Given the description of an element on the screen output the (x, y) to click on. 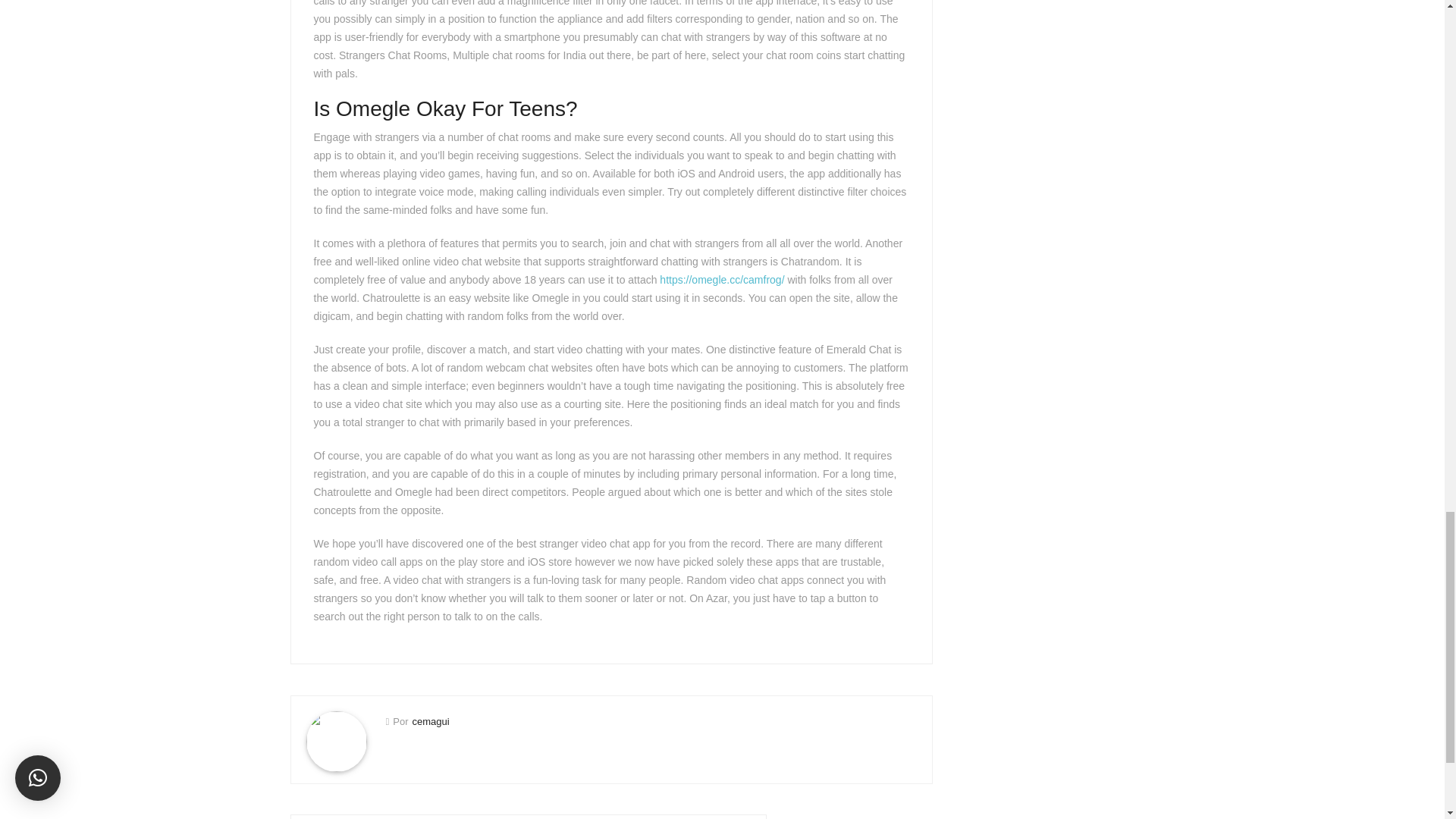
cemagui (430, 721)
